Given the description of an element on the screen output the (x, y) to click on. 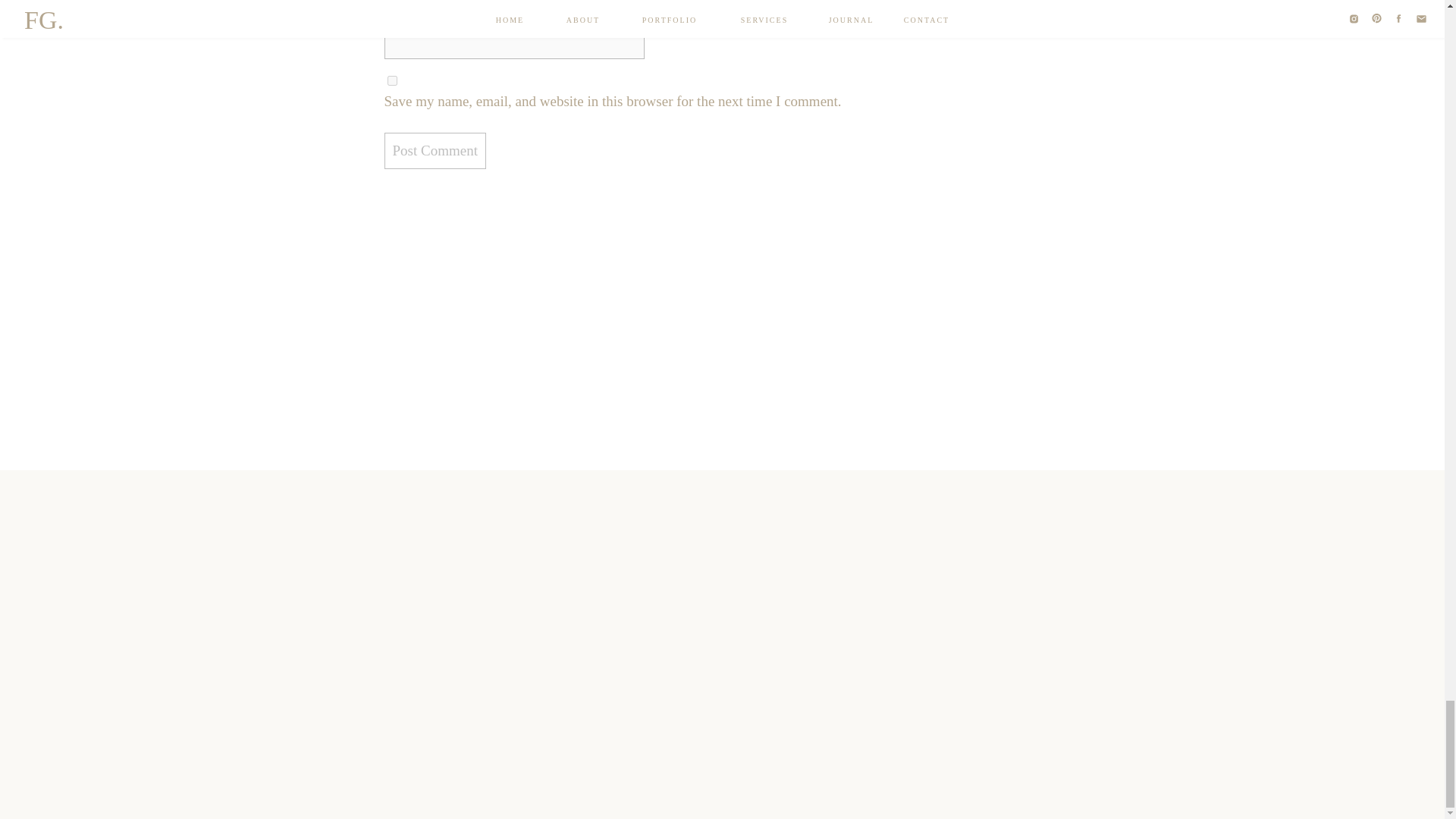
Post Comment (434, 150)
Post Comment (434, 150)
yes (391, 80)
